Given the description of an element on the screen output the (x, y) to click on. 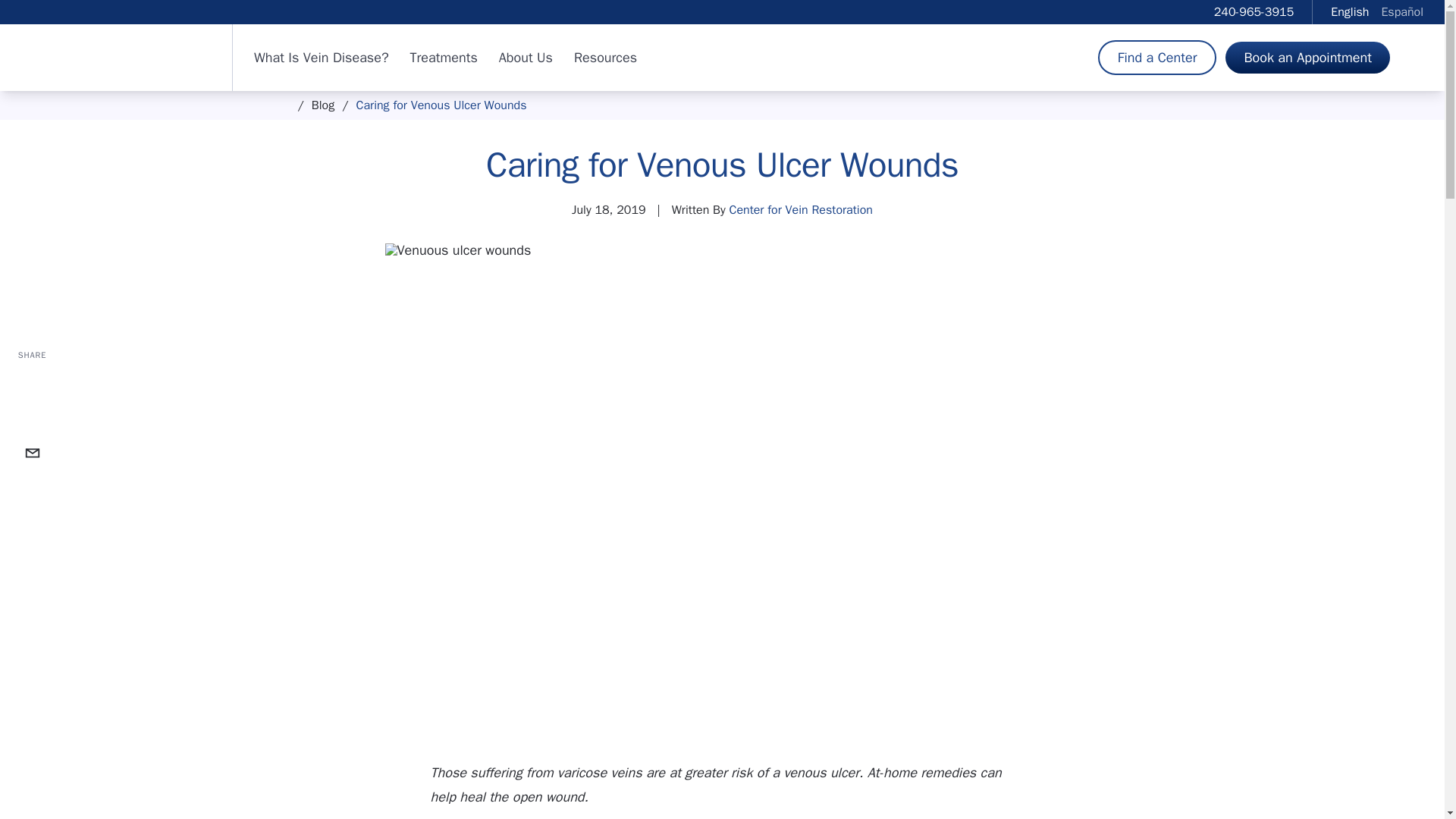
English (1349, 12)
Book an Appointment (1307, 57)
Resources (605, 56)
What Is Vein Disease? (320, 56)
Toggle search menu (1415, 57)
Find a Center (1157, 57)
About Us (526, 56)
Treatments (443, 56)
240-965-3915 (1254, 12)
